Given the description of an element on the screen output the (x, y) to click on. 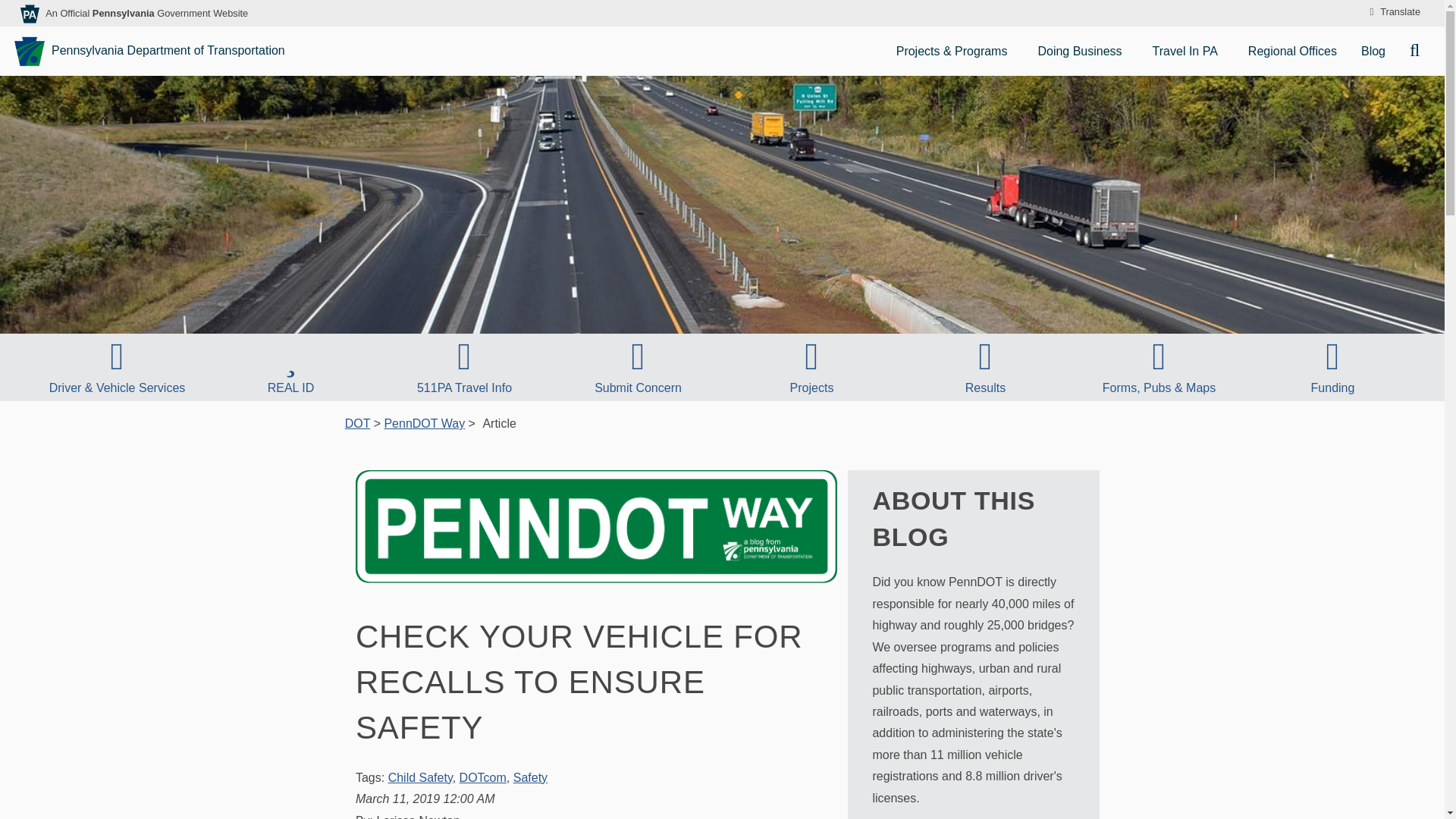
Translate (1393, 12)
An Official Pennsylvania Government Website (146, 11)
Travel In PA (1188, 51)
Department Of Transportation (357, 422)
Pennsylvania Department of Transportation (151, 51)
Doing Business (1082, 51)
